Given the description of an element on the screen output the (x, y) to click on. 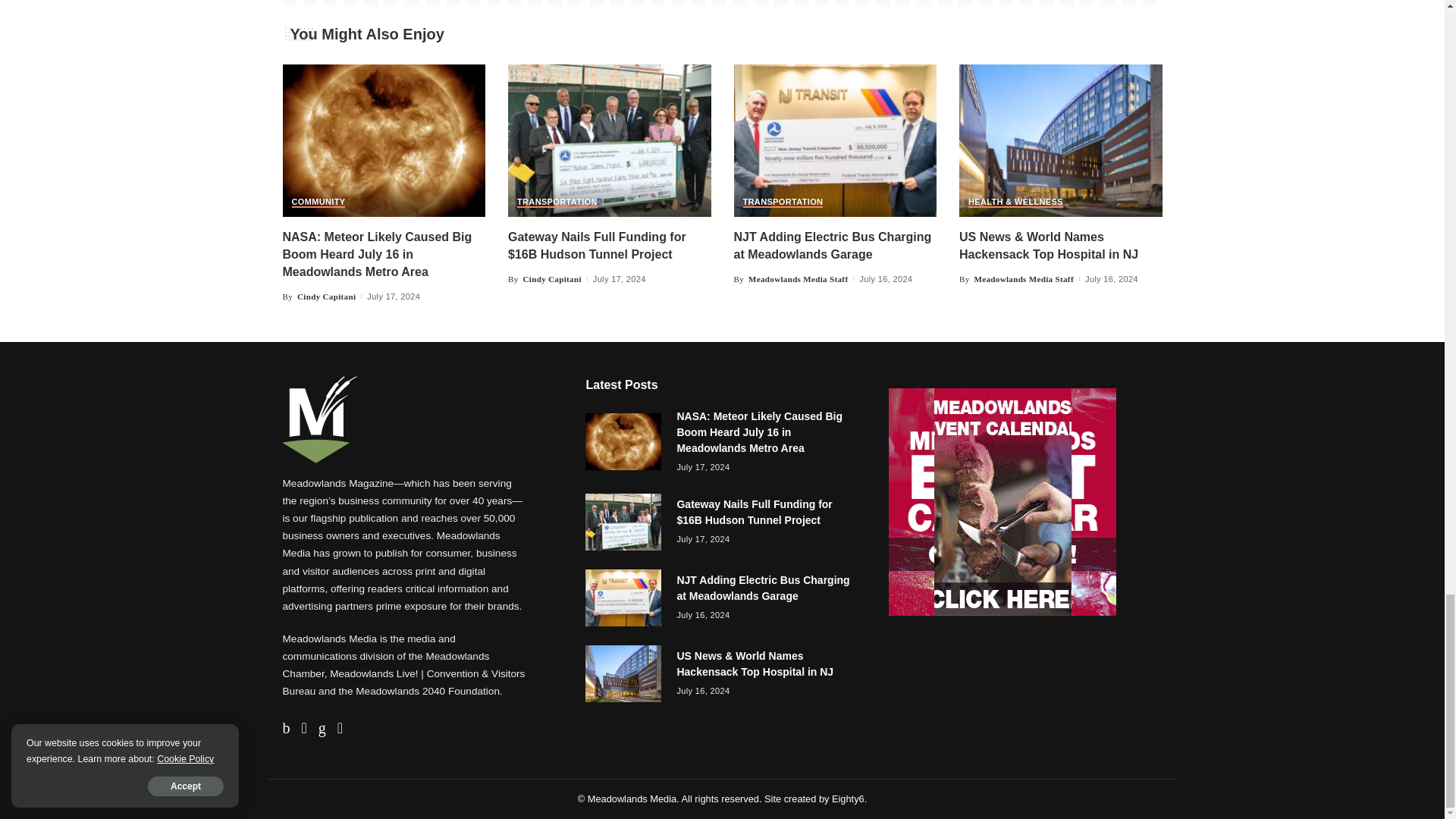
2024-07-17T08:37:55-04:00 (619, 278)
2024-07-17T10:20:42-04:00 (393, 296)
2024-07-16T10:10:38-04:00 (885, 278)
